Given the description of an element on the screen output the (x, y) to click on. 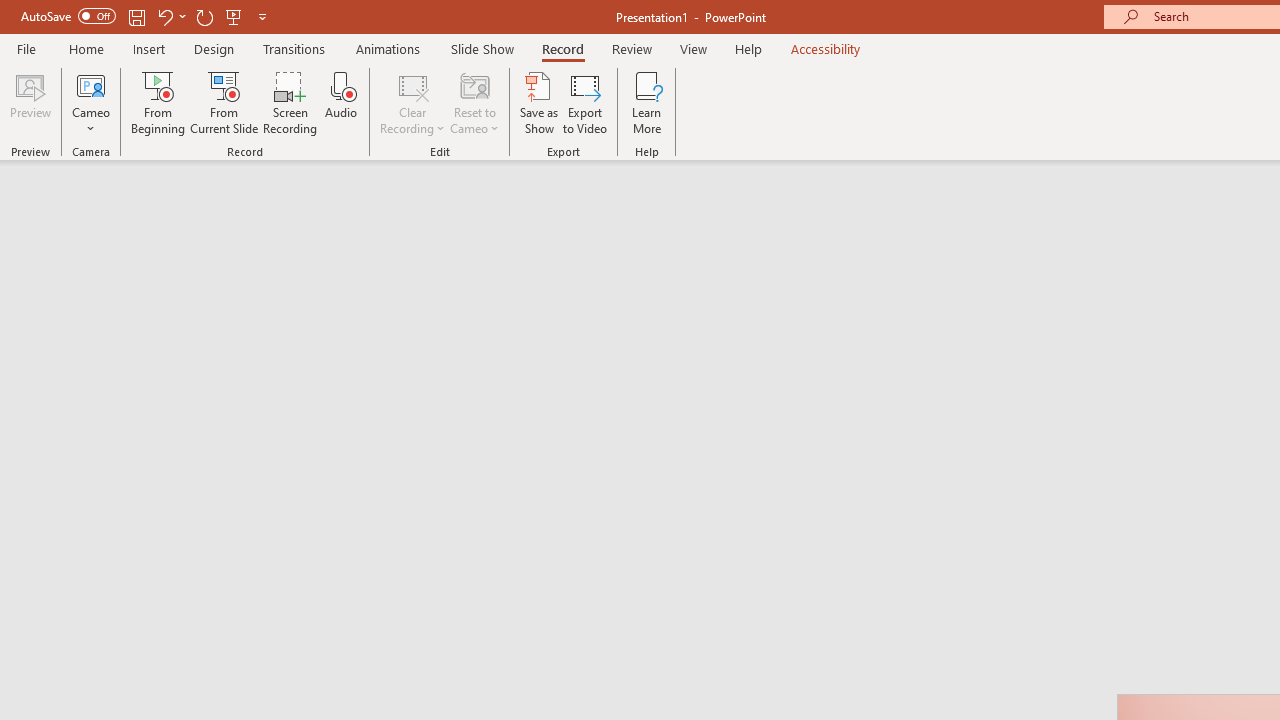
From Current Slide... (224, 102)
Save as Show (539, 102)
